Given the description of an element on the screen output the (x, y) to click on. 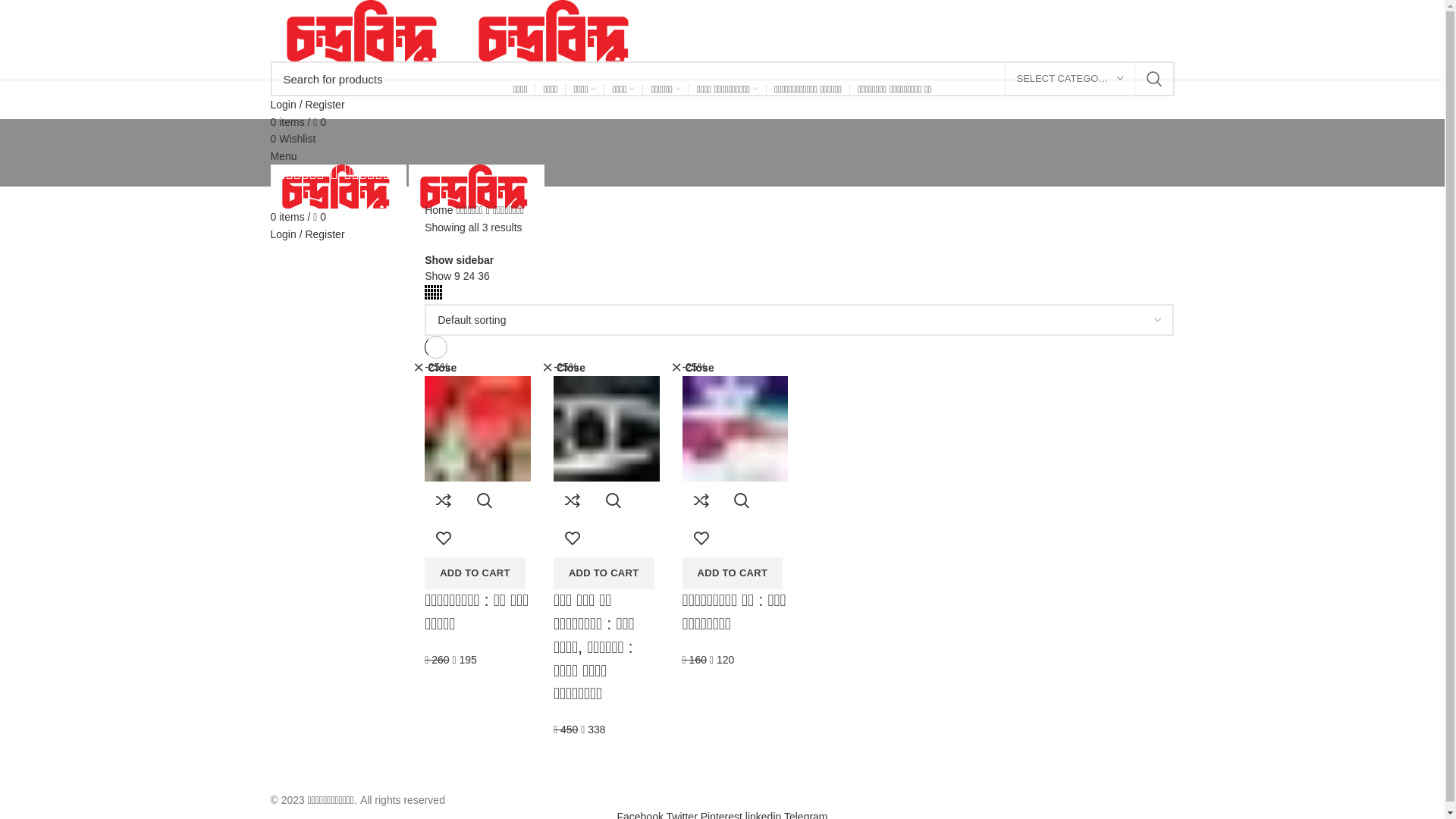
9 Element type: text (458, 275)
Compare Element type: text (443, 500)
-25% Element type: text (477, 395)
Login / Register Element type: text (306, 234)
Quick view Element type: text (484, 500)
Close Element type: text (563, 367)
Quick view Element type: text (613, 500)
Search for products Element type: hover (721, 78)
Close Element type: text (434, 367)
36 Element type: text (483, 275)
ADD TO CART Element type: text (603, 573)
Quick view Element type: text (741, 500)
ADD TO CART Element type: text (732, 573)
Login / Register Element type: text (306, 104)
Close Element type: text (692, 367)
ADD TO CART Element type: text (474, 573)
SELECT CATEGORY Element type: text (1069, 78)
Home Element type: text (438, 209)
Show sidebar Element type: text (458, 259)
SEARCH Element type: text (1153, 78)
Compare Element type: text (701, 500)
Compare Element type: text (572, 500)
-25% Element type: text (735, 395)
Add to wishlist Element type: text (572, 538)
24 Element type: text (470, 275)
0 Wishlist Element type: text (292, 138)
-25% Element type: text (606, 395)
Add to wishlist Element type: text (443, 538)
Add to wishlist Element type: text (701, 538)
Menu Element type: text (282, 156)
